Given the description of an element on the screen output the (x, y) to click on. 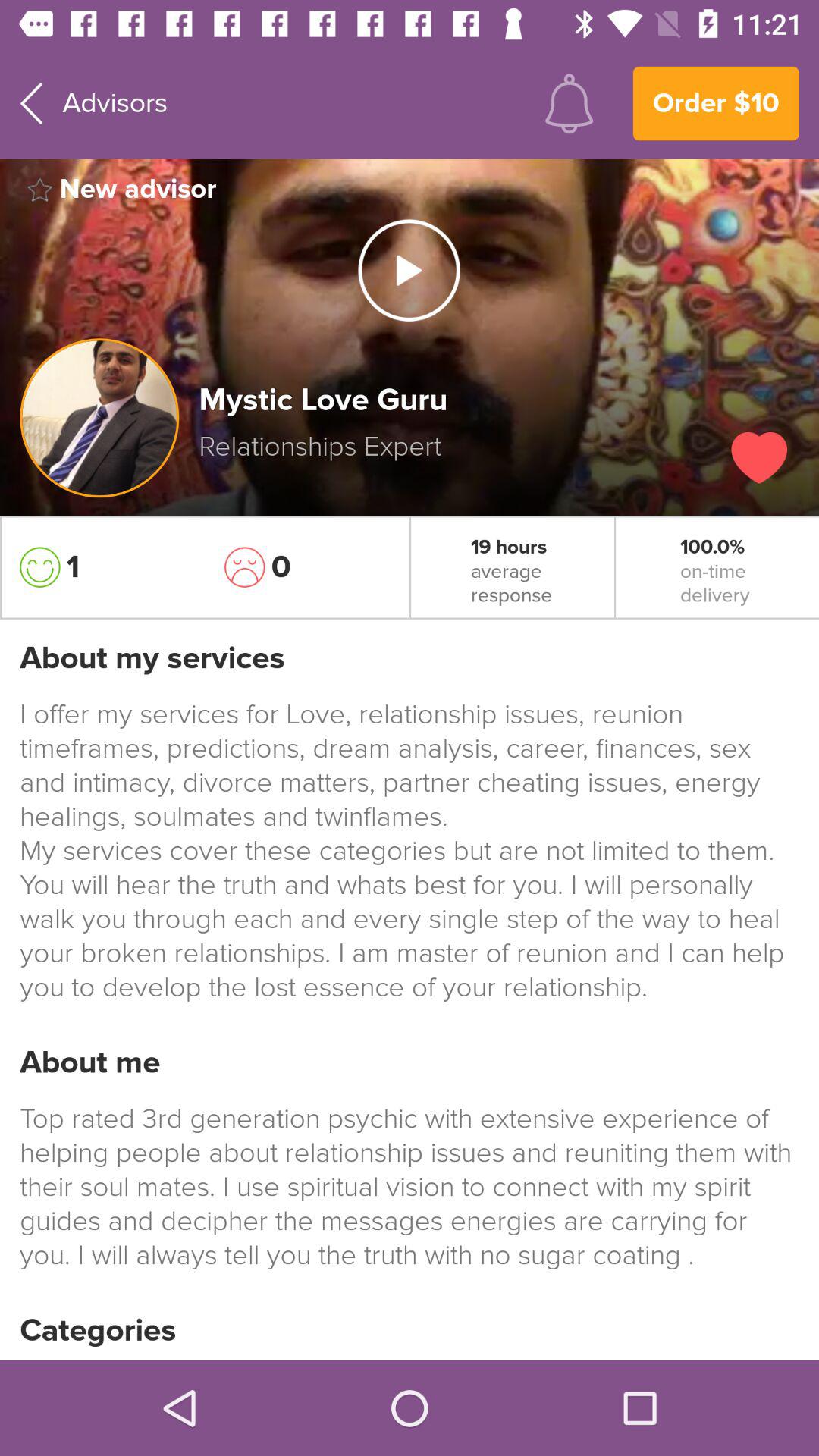
tap the item above mystic love guru (409, 270)
